Given the description of an element on the screen output the (x, y) to click on. 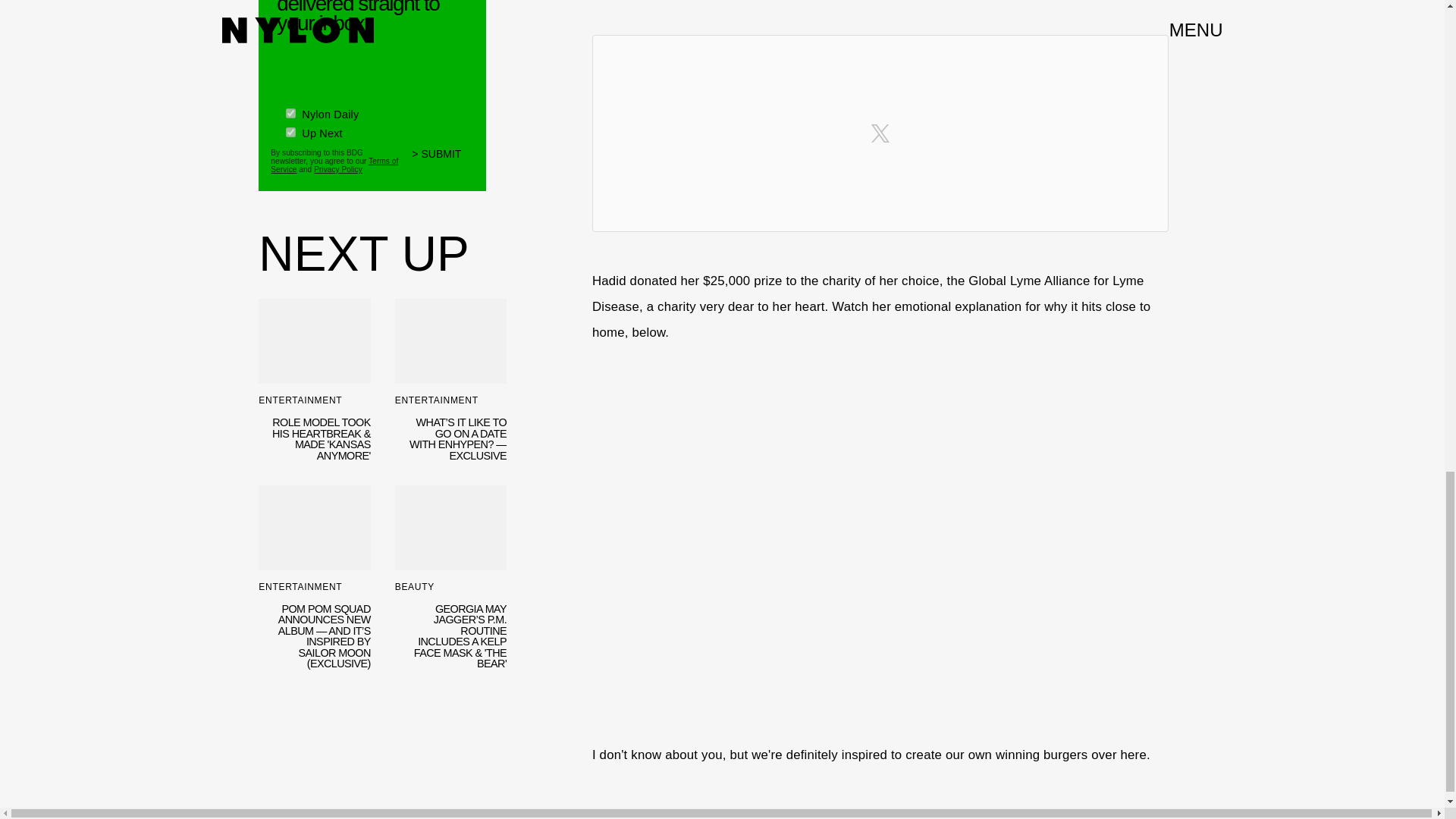
SUBMIT (443, 162)
Privacy Policy (338, 169)
Terms of Service (333, 164)
